Given the description of an element on the screen output the (x, y) to click on. 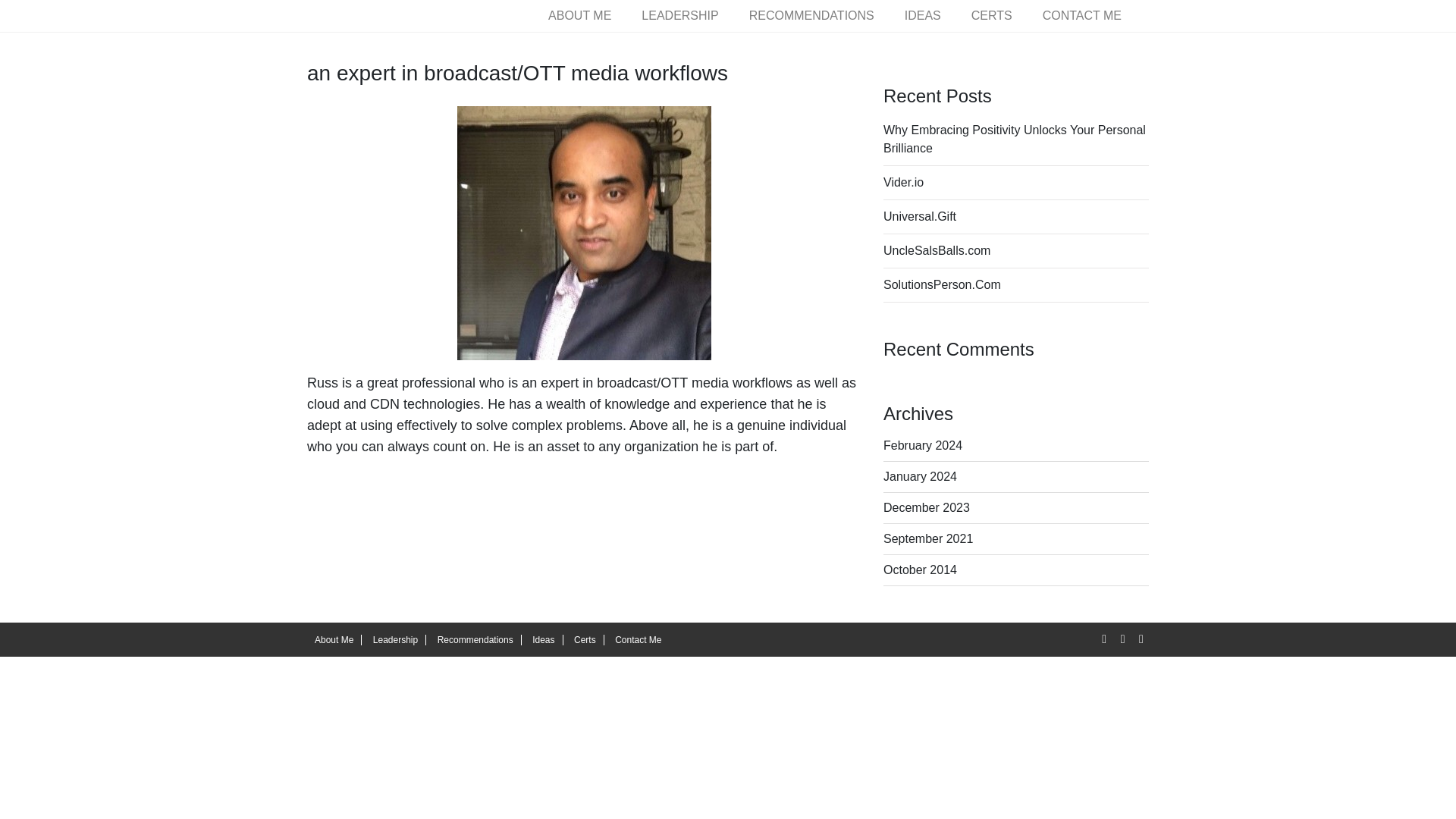
RECOMMENDATIONS (811, 15)
Ideas (543, 639)
Certs (585, 639)
ABOUT ME (579, 15)
About Me (334, 639)
IDEAS (922, 15)
CERTS (991, 15)
UncleSalsBalls.com (936, 250)
Recommendations (475, 639)
February 2024 (922, 445)
